Given the description of an element on the screen output the (x, y) to click on. 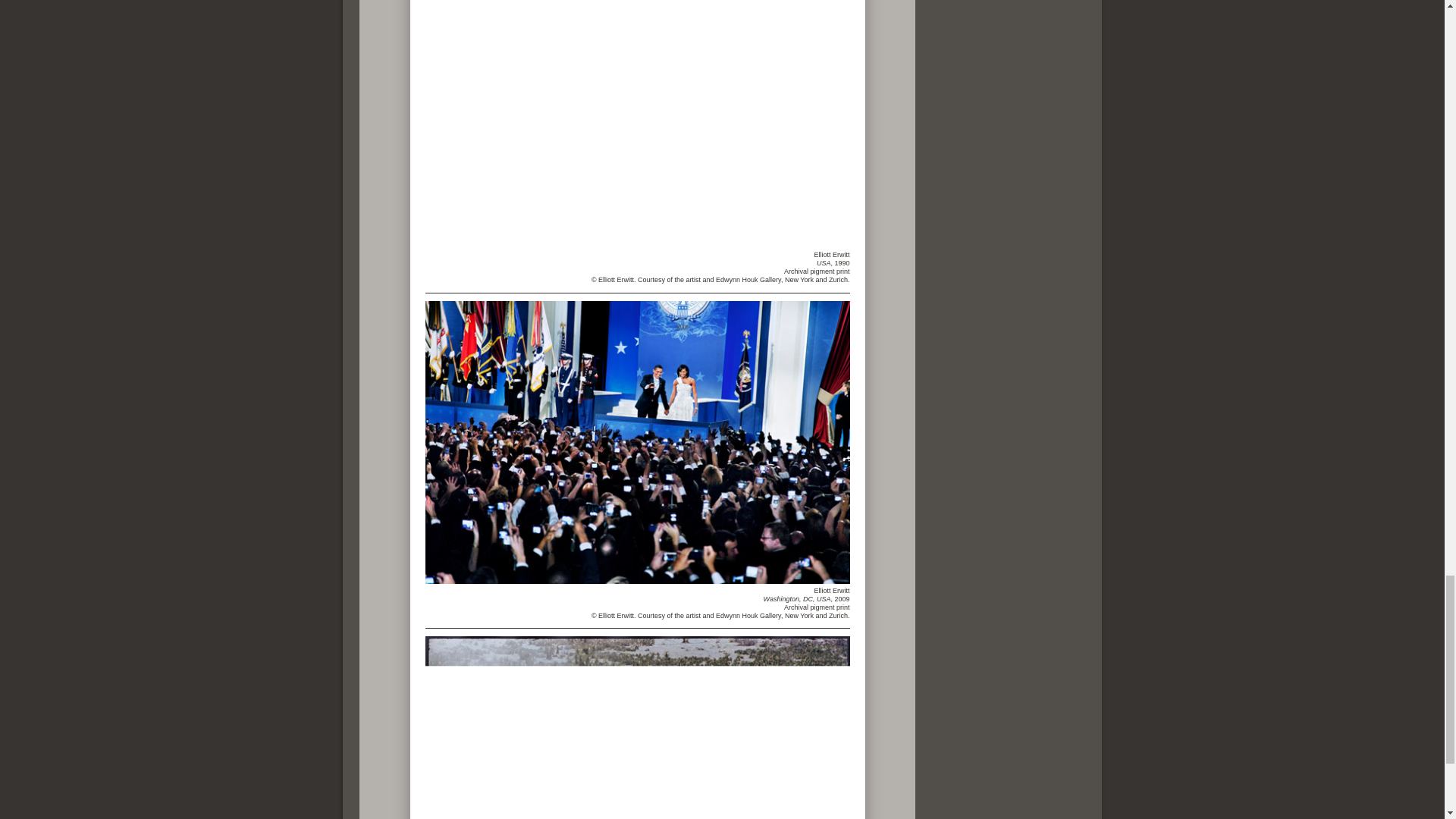
Kolor (636, 727)
Kolor (636, 442)
Kolor (705, 124)
